Given the description of an element on the screen output the (x, y) to click on. 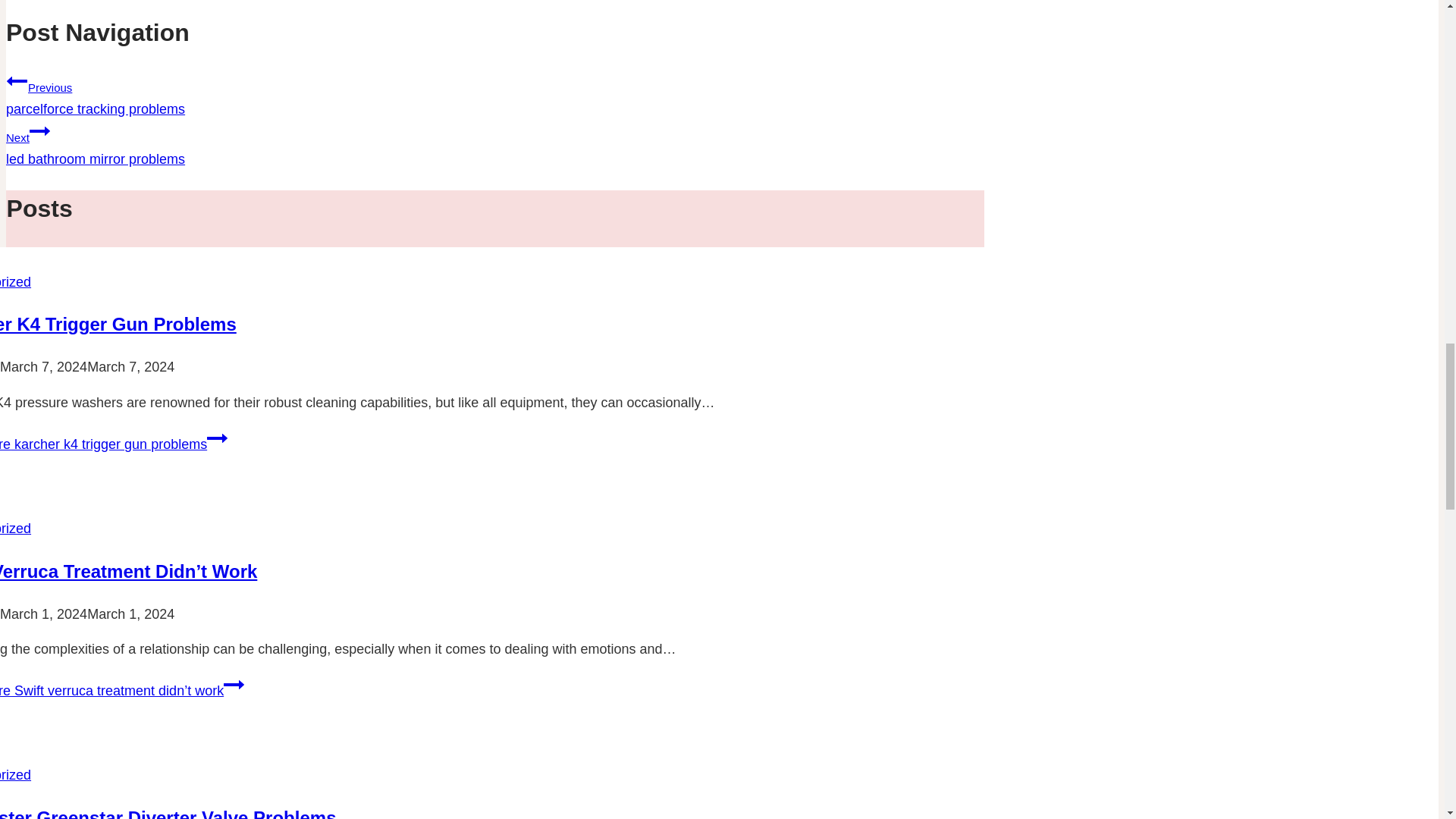
Continue (216, 437)
Worcester Greenstar Diverter Valve Problems (168, 813)
Previous (16, 80)
Continue (39, 130)
Continue (494, 93)
Uncategorized (234, 684)
Read More karcher k4 trigger gun problemsContinue (15, 528)
Uncategorized (113, 444)
Karcher K4 Trigger Gun Problems (15, 774)
Uncategorized (117, 323)
